Given the description of an element on the screen output the (x, y) to click on. 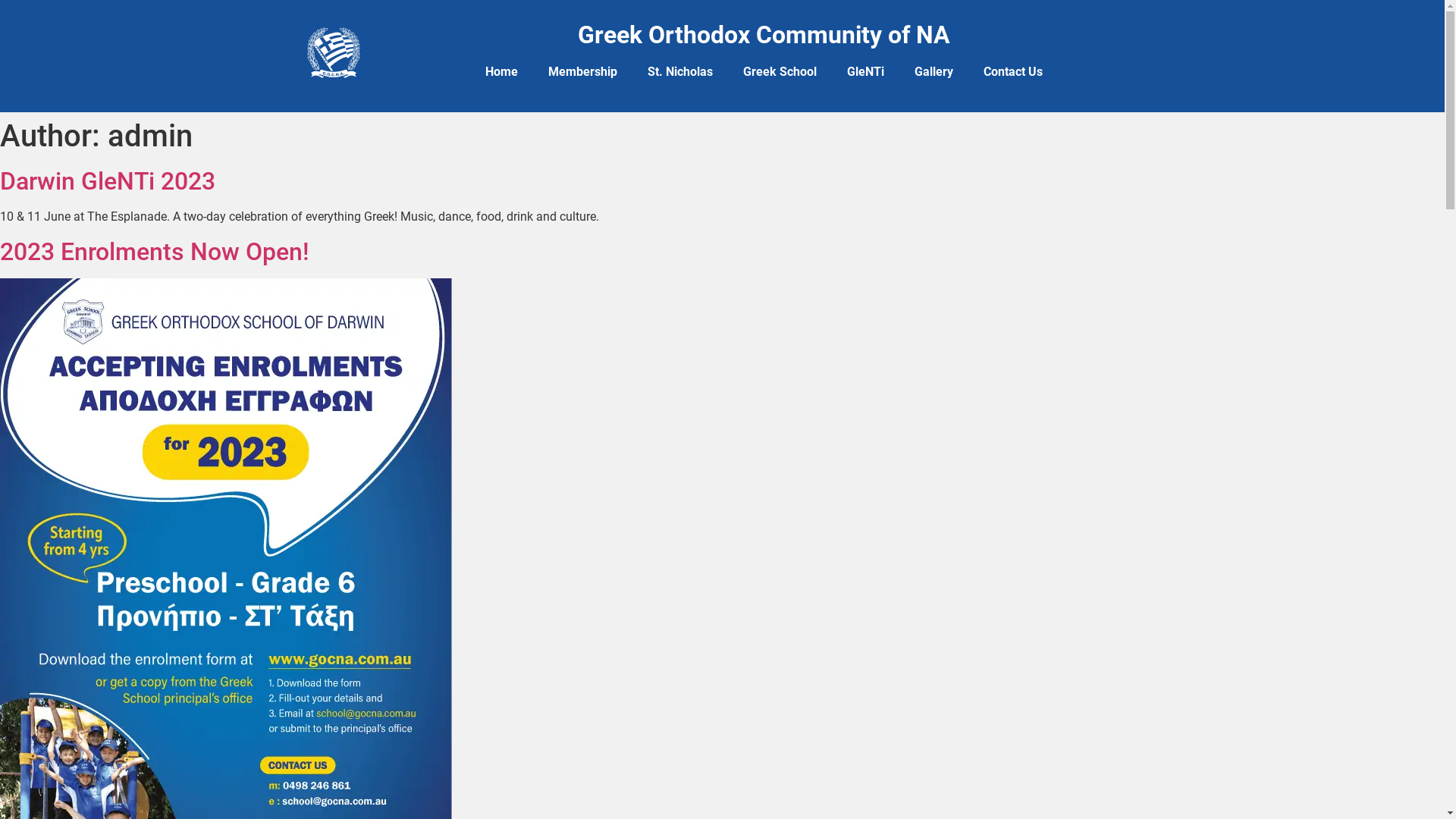
2023 Enrolments Now Open! Element type: text (154, 251)
St. Nicholas Element type: text (680, 71)
Membership Element type: text (582, 71)
Contact Us Element type: text (1012, 71)
whiteArtboard 1 Element type: hover (333, 52)
GleNTi Element type: text (865, 71)
Greek Orthodox Community of NA Element type: text (763, 34)
Gallery Element type: text (933, 71)
Darwin GleNTi 2023 Element type: text (107, 180)
Home Element type: text (501, 71)
Greek School Element type: text (779, 71)
